Given the description of an element on the screen output the (x, y) to click on. 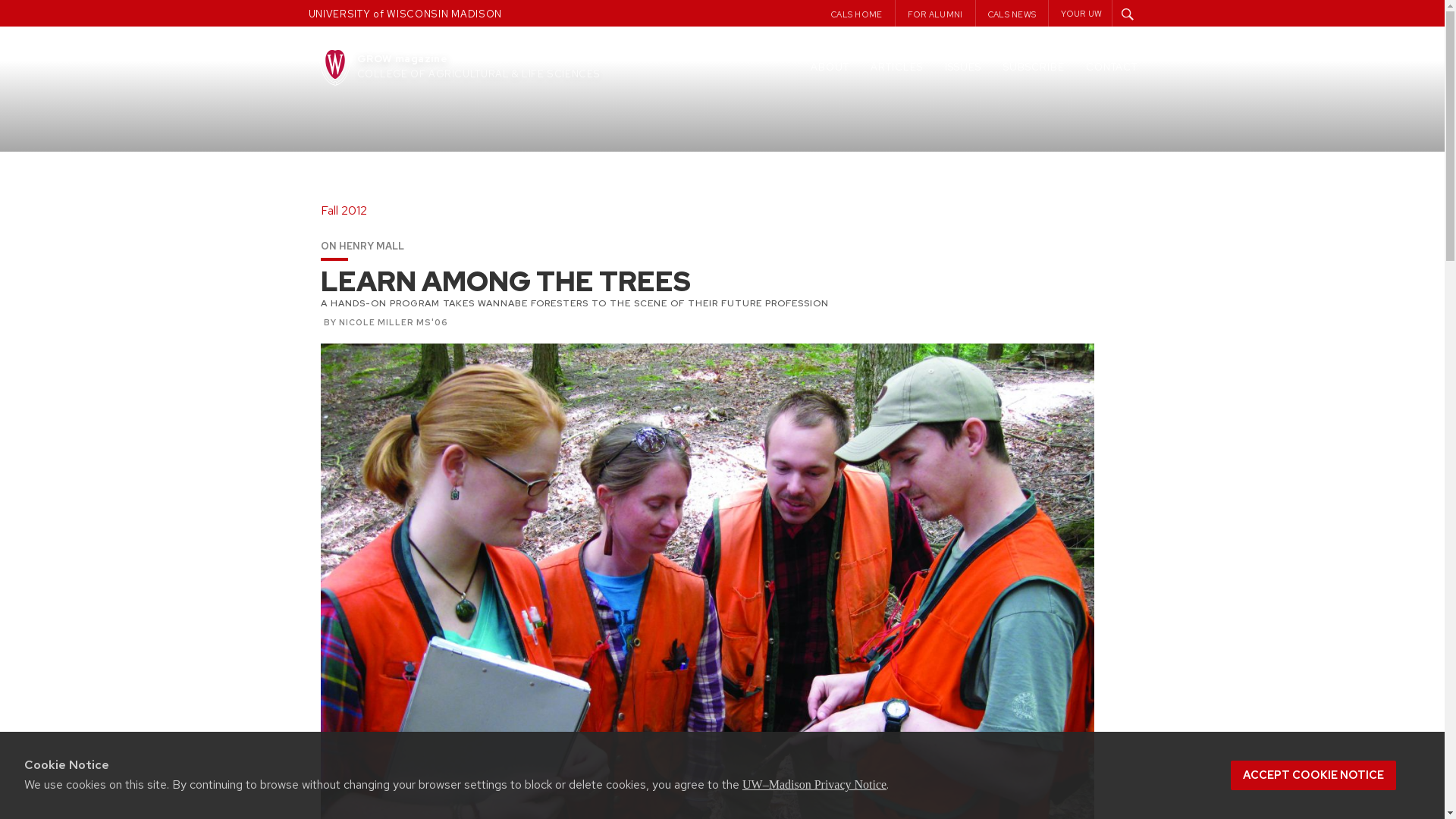
YOUR UW (1081, 13)
SUBSCRIBE (1033, 66)
CALS HOME (863, 14)
CALS NEWS (1018, 14)
FOR ALUMNI (941, 14)
CONTACT (1111, 66)
ARTICLES (896, 66)
ABOUT (829, 66)
ISSUES (962, 66)
ACCEPT COOKIE NOTICE (1313, 775)
UNIVERSITY of WISCONSIN MADISON (404, 13)
